Given the description of an element on the screen output the (x, y) to click on. 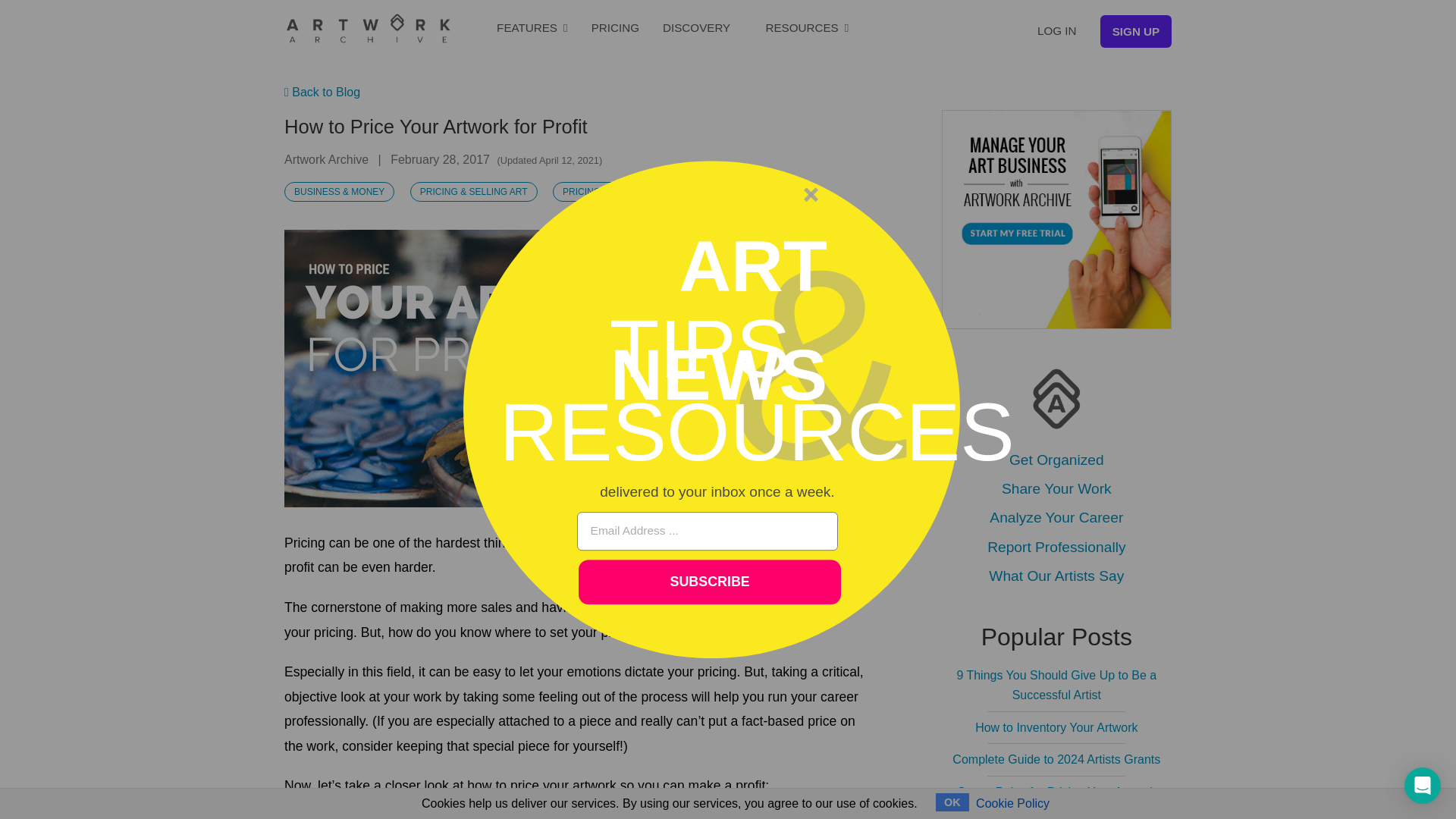
SIGN UP (1136, 31)
Back to Blog (321, 91)
Plans and Pricing (615, 27)
LOG IN (1055, 30)
SIGN UP (1136, 31)
FEATURES (531, 27)
DISCOVERY (696, 27)
RESOURCES (806, 27)
PRICING (615, 27)
Discovery (696, 27)
